Given the description of an element on the screen output the (x, y) to click on. 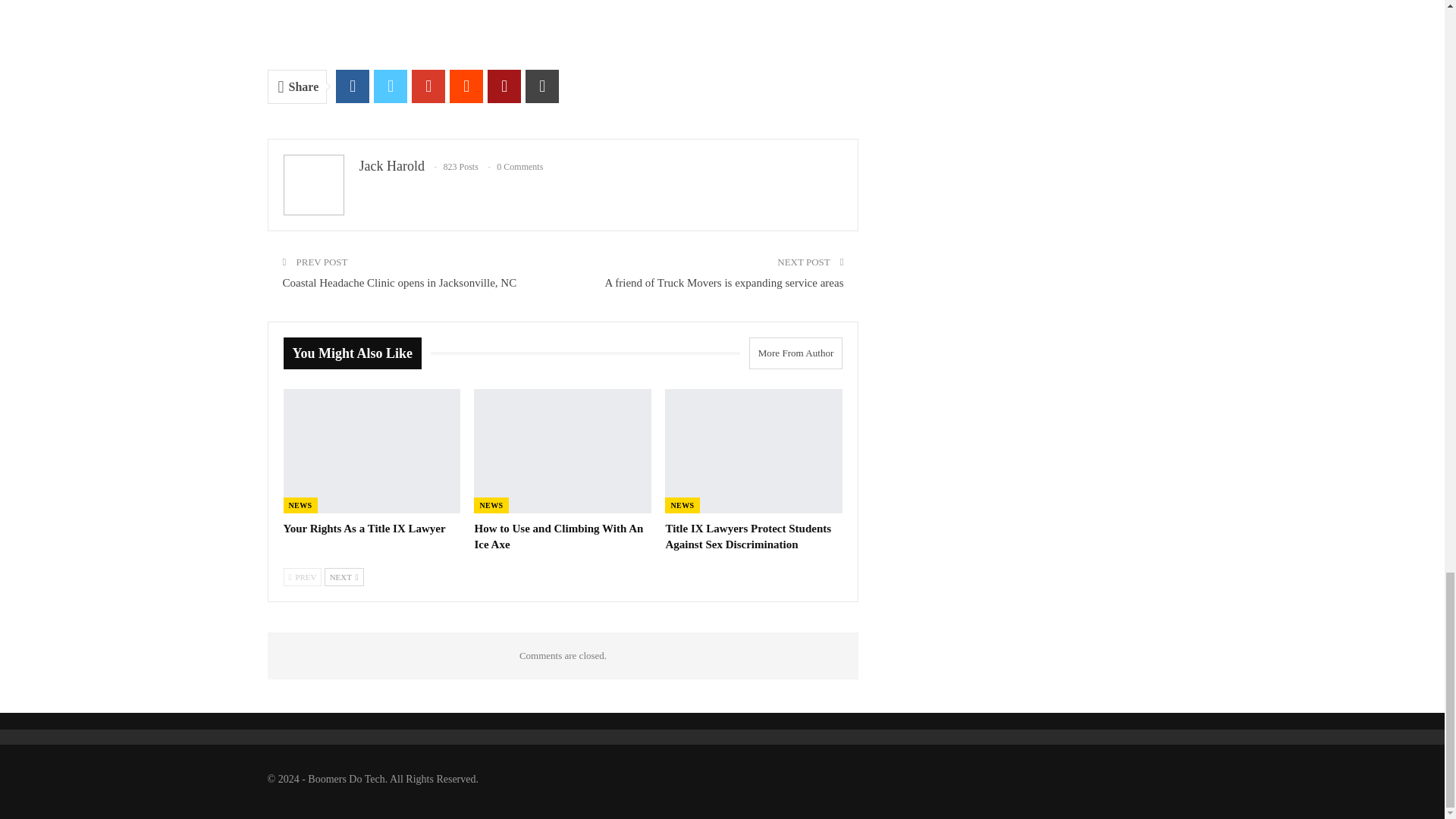
How to Use and Climbing With An Ice Axe (562, 451)
Next (344, 577)
Title IX Lawyers Protect Students Against Sex Discrimination (748, 536)
Your Rights As a Title IX Lawyer (364, 528)
Previous (302, 577)
Your Rights As a Title IX Lawyer (372, 451)
How to Use and Climbing With An Ice Axe (558, 536)
Title IX Lawyers Protect Students Against Sex Discrimination (754, 451)
